Given the description of an element on the screen output the (x, y) to click on. 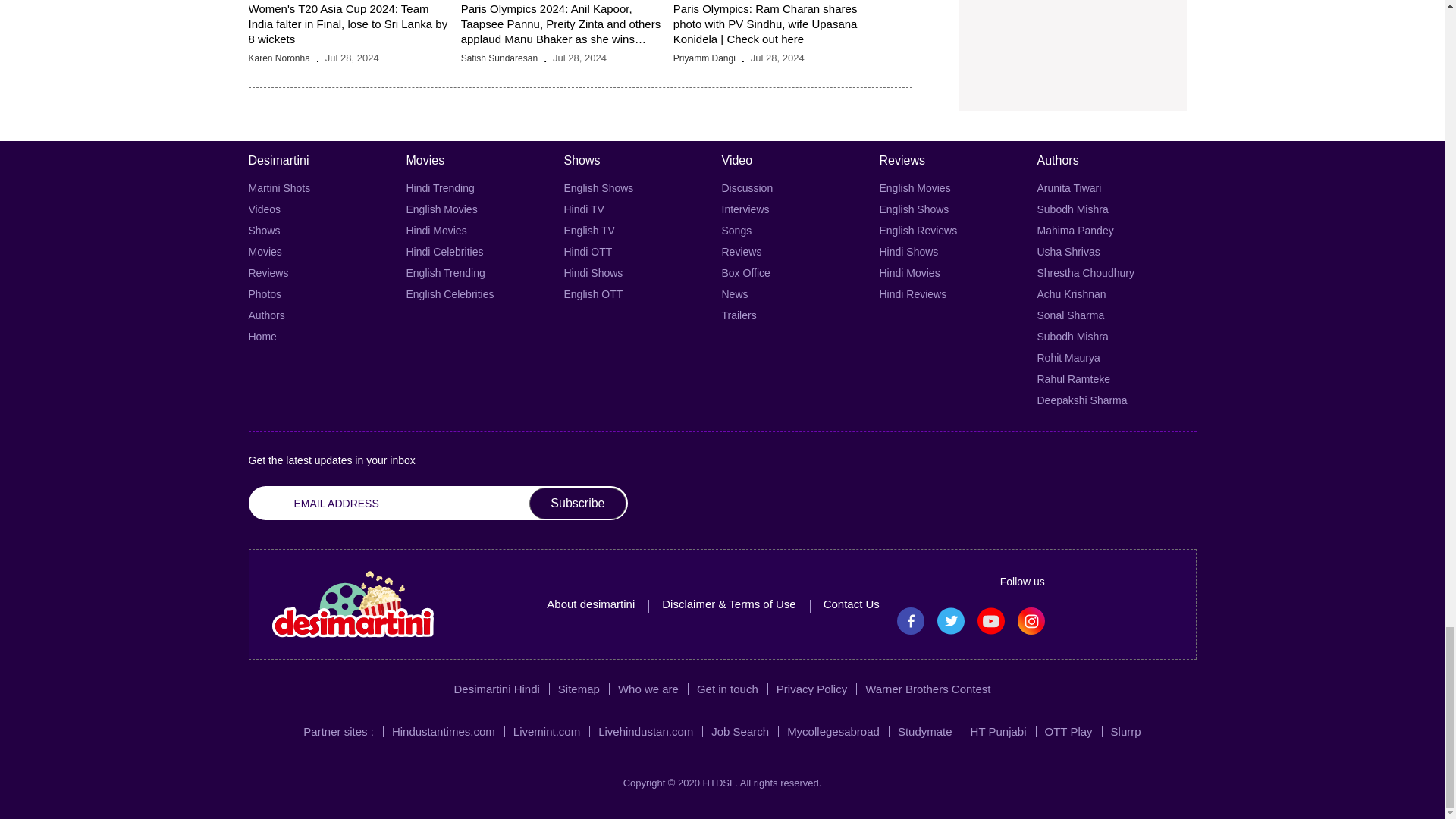
Desi martini (351, 603)
